Given the description of an element on the screen output the (x, y) to click on. 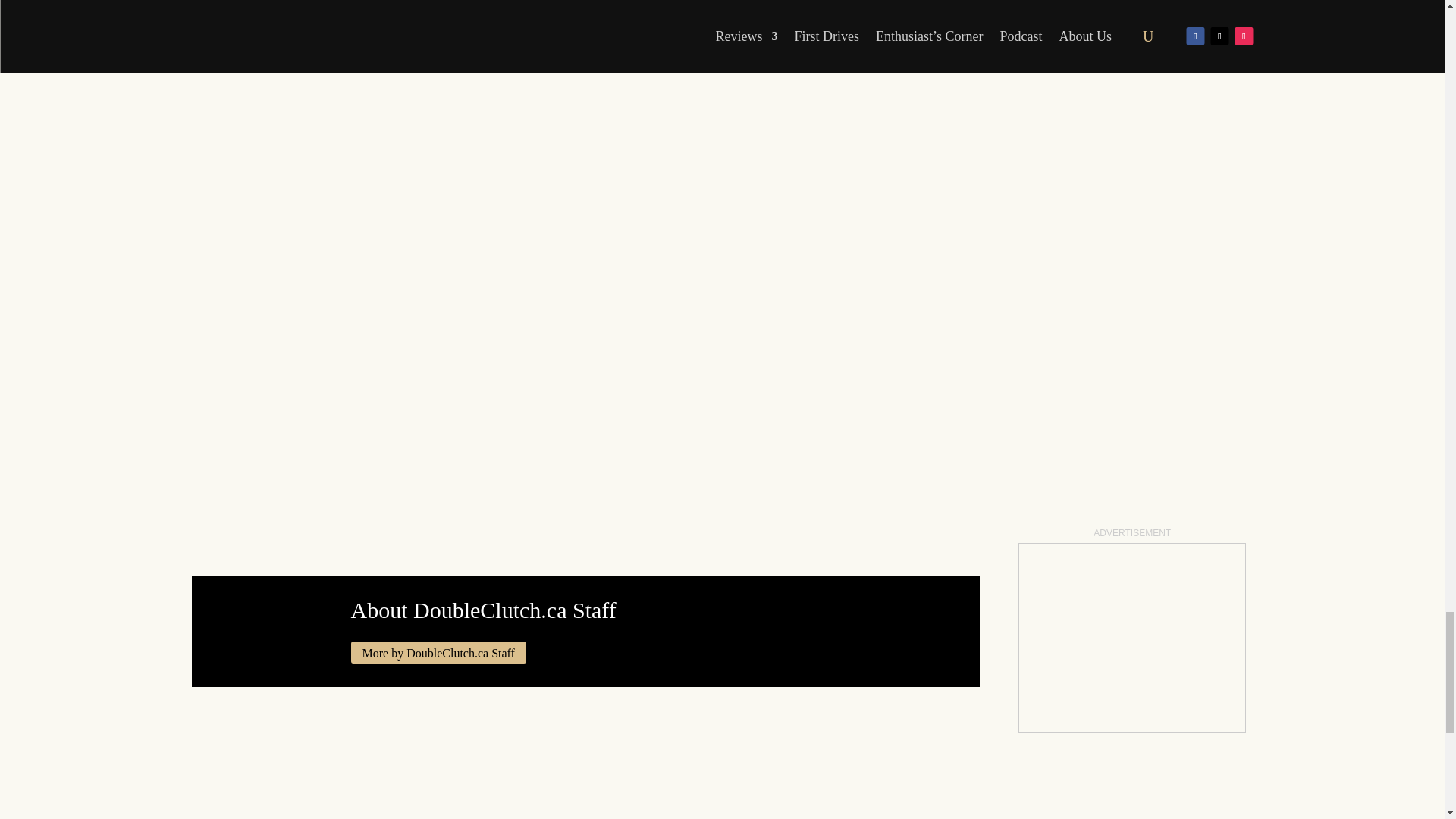
2014 Mercedes-Benz E350 Cabriolet top operation (426, 13)
2014 Mercedes-Benz E350 Cabriolet top up (266, 13)
2014 Mercedes-Benz E350 Cabriolet instrument cluster (744, 14)
2014 Mercedes-Benz E350 Cabriolet seat controls (585, 14)
